Given the description of an element on the screen output the (x, y) to click on. 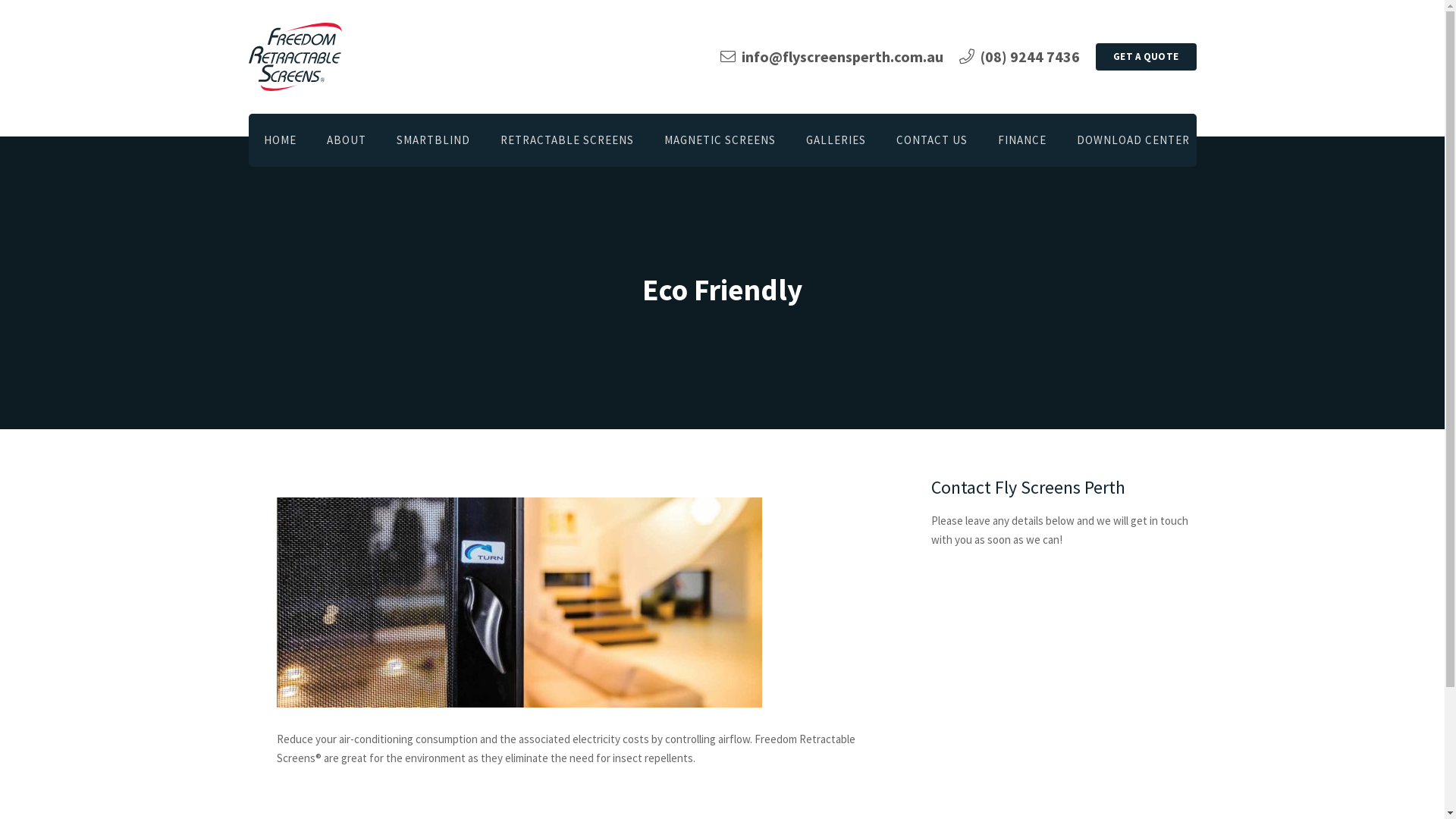
ABOUT Element type: text (345, 139)
GALLERIES Element type: text (835, 139)
RETRACTABLE SCREENS Element type: text (567, 139)
FINANCE Element type: text (1021, 139)
GET A QUOTE Element type: text (1145, 56)
DOWNLOAD CENTER Element type: text (1132, 139)
SMARTBLIND Element type: text (432, 139)
HOME Element type: text (279, 139)
CONTACT US Element type: text (931, 139)
(08) 9244 7436 Element type: text (1019, 56)
MAGNETIC SCREENS Element type: text (719, 139)
info@flyscreensperth.com.au Element type: text (831, 56)
